Given the description of an element on the screen output the (x, y) to click on. 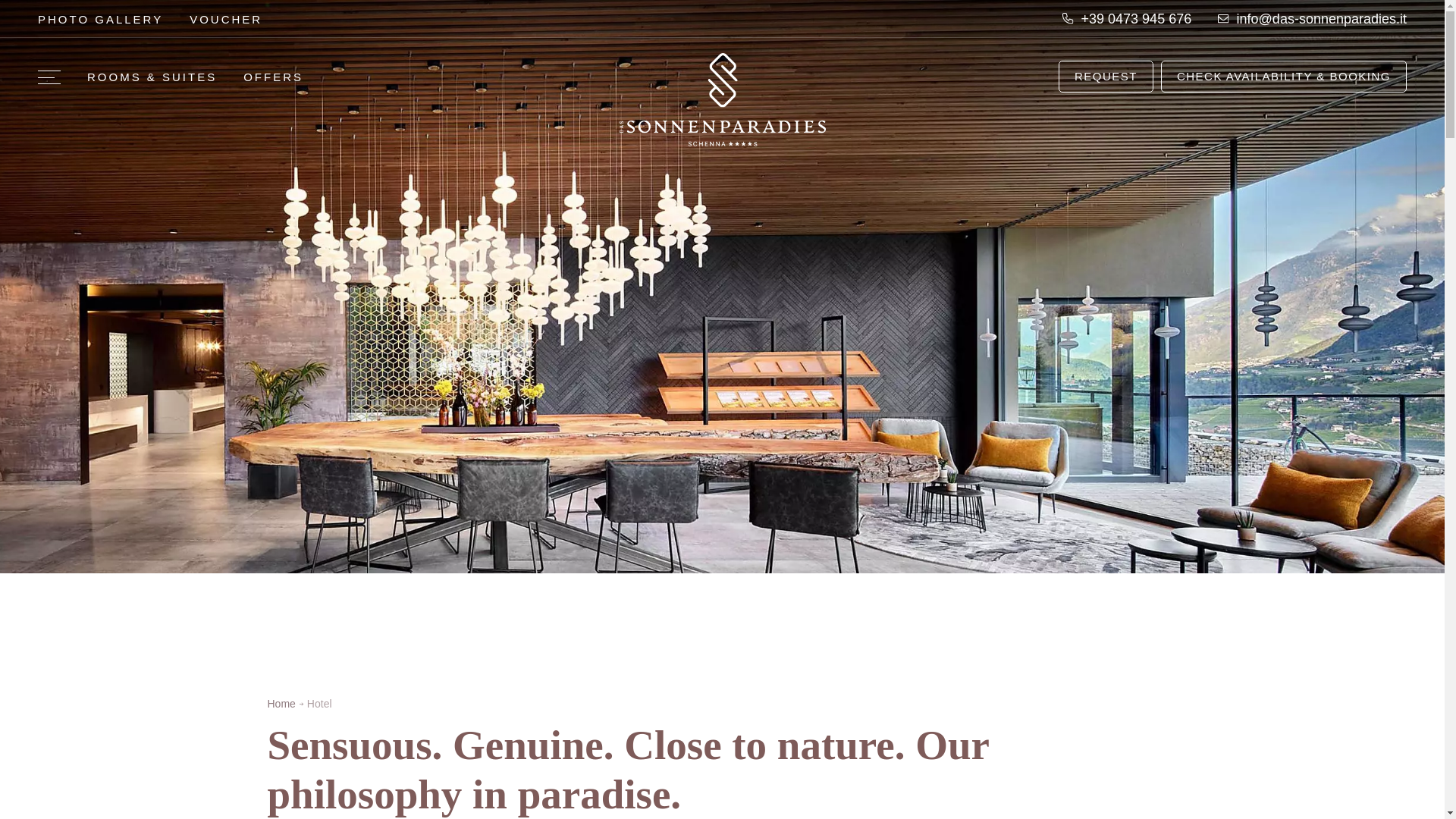
REQUEST (1105, 76)
PHOTO GALLERY (100, 18)
OFFERS (272, 76)
VOUCHER (225, 18)
